Given the description of an element on the screen output the (x, y) to click on. 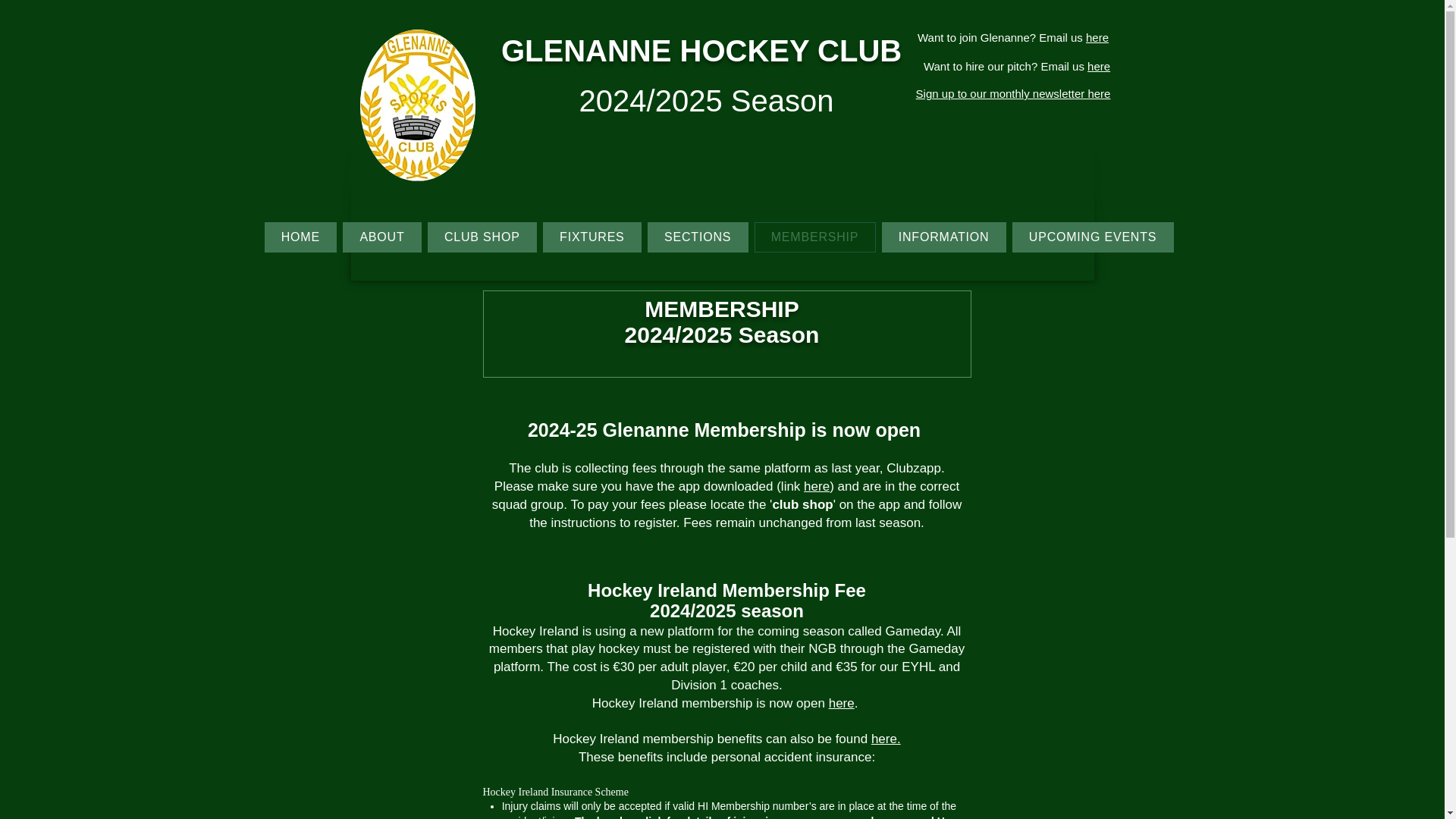
These benefits include personal accident insurance: (726, 757)
Sign up to our monthly newsletter here (1012, 92)
GLENANNE  (589, 50)
Glenanne crest  good no background.png (416, 104)
here (816, 486)
here (1097, 37)
HOME (299, 236)
Here (948, 816)
re (1104, 65)
MEMBERSHIP (814, 236)
here (841, 703)
here. (885, 739)
INFORMATION (944, 236)
ABOUT (382, 236)
